Given the description of an element on the screen output the (x, y) to click on. 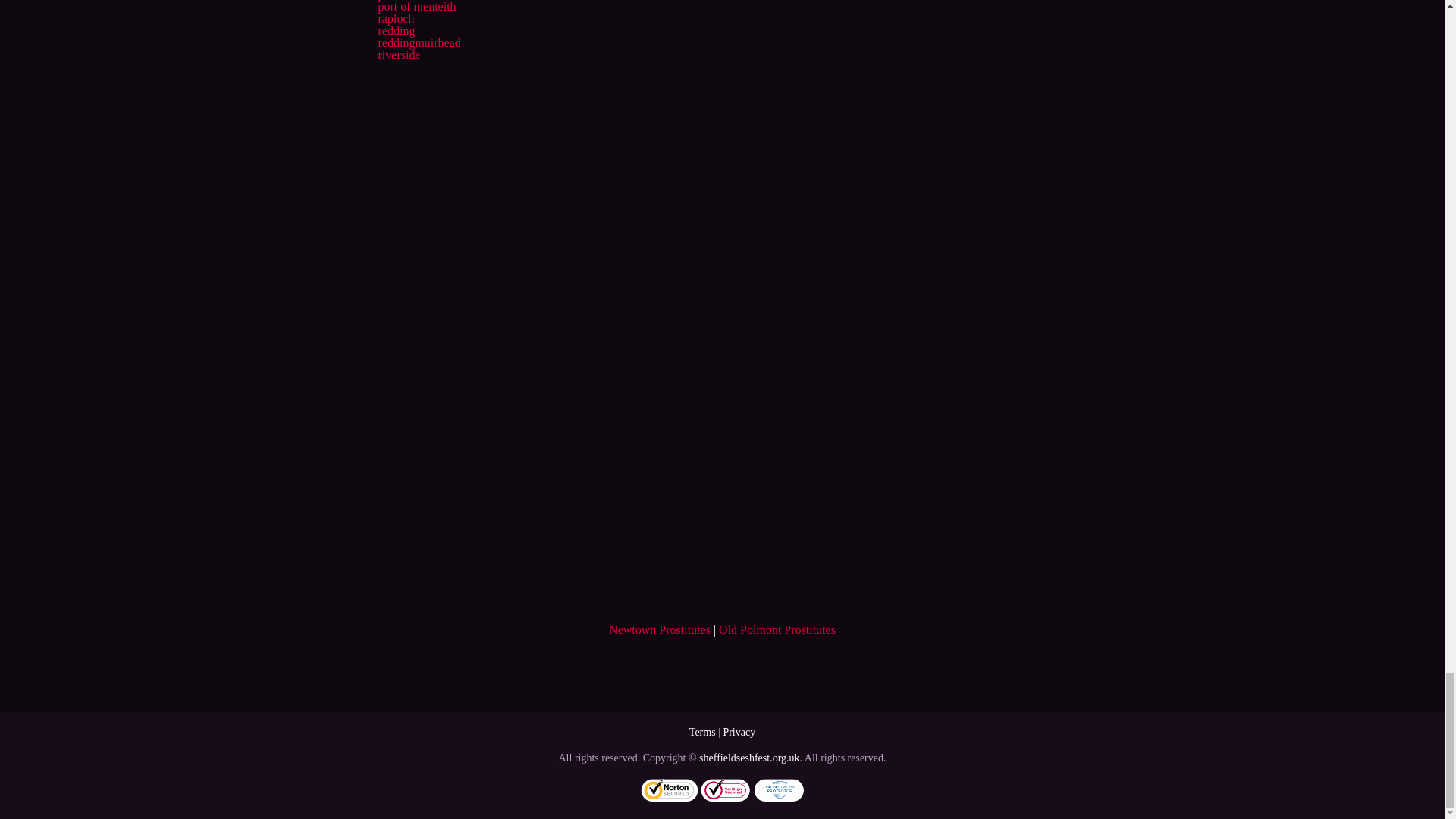
reddingmuirhead (418, 42)
Old Polmont Prostitutes (777, 629)
port of menteith (416, 6)
redding (395, 30)
raploch (395, 18)
Terms (702, 731)
riverside (398, 54)
polmont (397, 0)
Newtown Prostitutes (659, 629)
Privacy (738, 731)
Terms (702, 731)
sheffieldseshfest.org.uk (748, 757)
Privacy (738, 731)
